Given the description of an element on the screen output the (x, y) to click on. 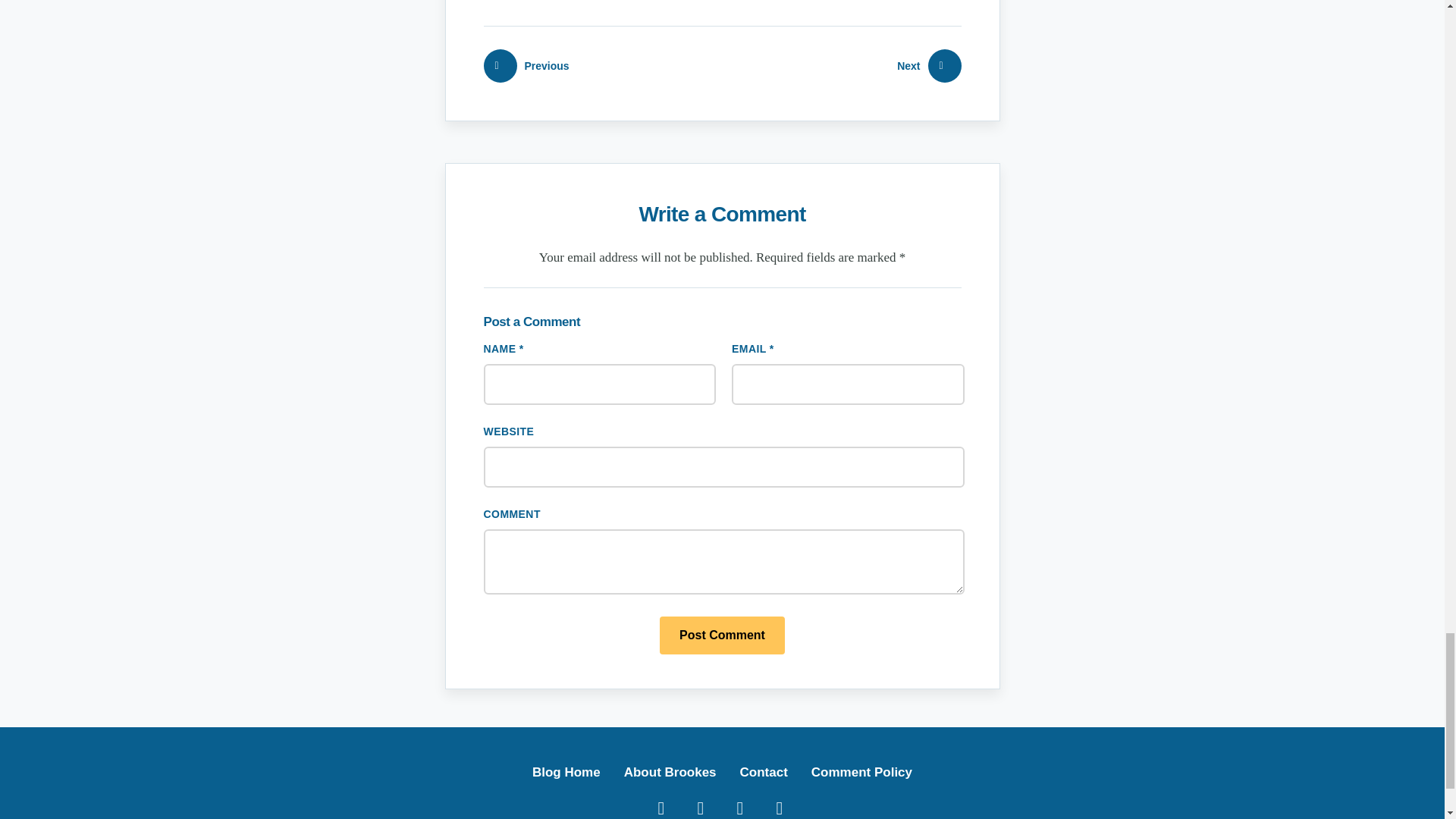
Blog Home (565, 771)
Next (928, 65)
Comment Policy (861, 771)
Contact (763, 771)
Facebook (661, 805)
Post Comment (721, 635)
Previous (526, 65)
Pinterest (739, 805)
About Brookes (670, 771)
Twitter (700, 805)
